Given the description of an element on the screen output the (x, y) to click on. 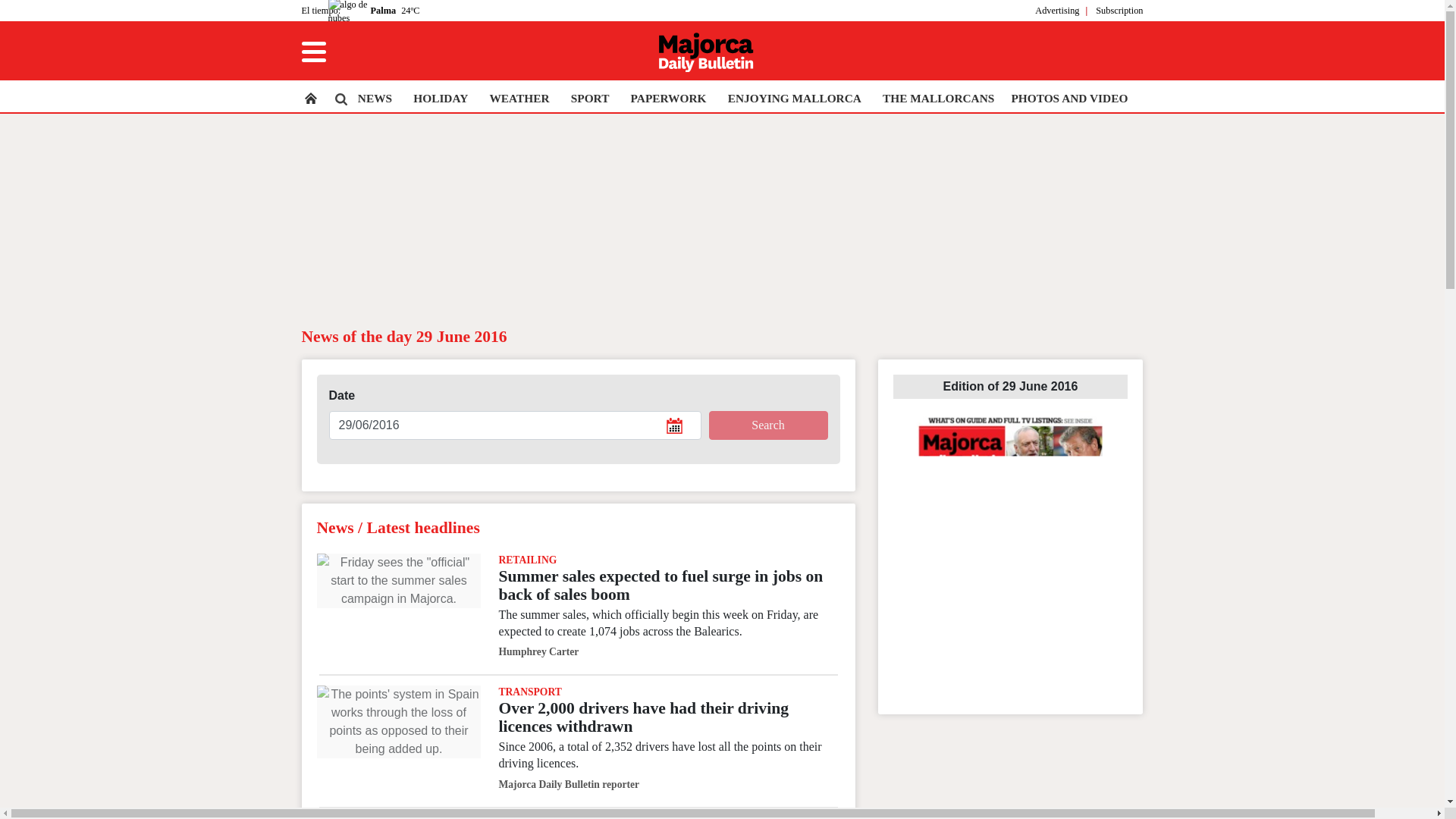
Subscription (1119, 9)
Over 2,000 drivers have had their driving licences withdrawn (399, 721)
El tiempo (319, 9)
Over 2,000 drivers have had their driving licences withdrawn (643, 717)
Advertising (1056, 9)
Search (767, 425)
